Given the description of an element on the screen output the (x, y) to click on. 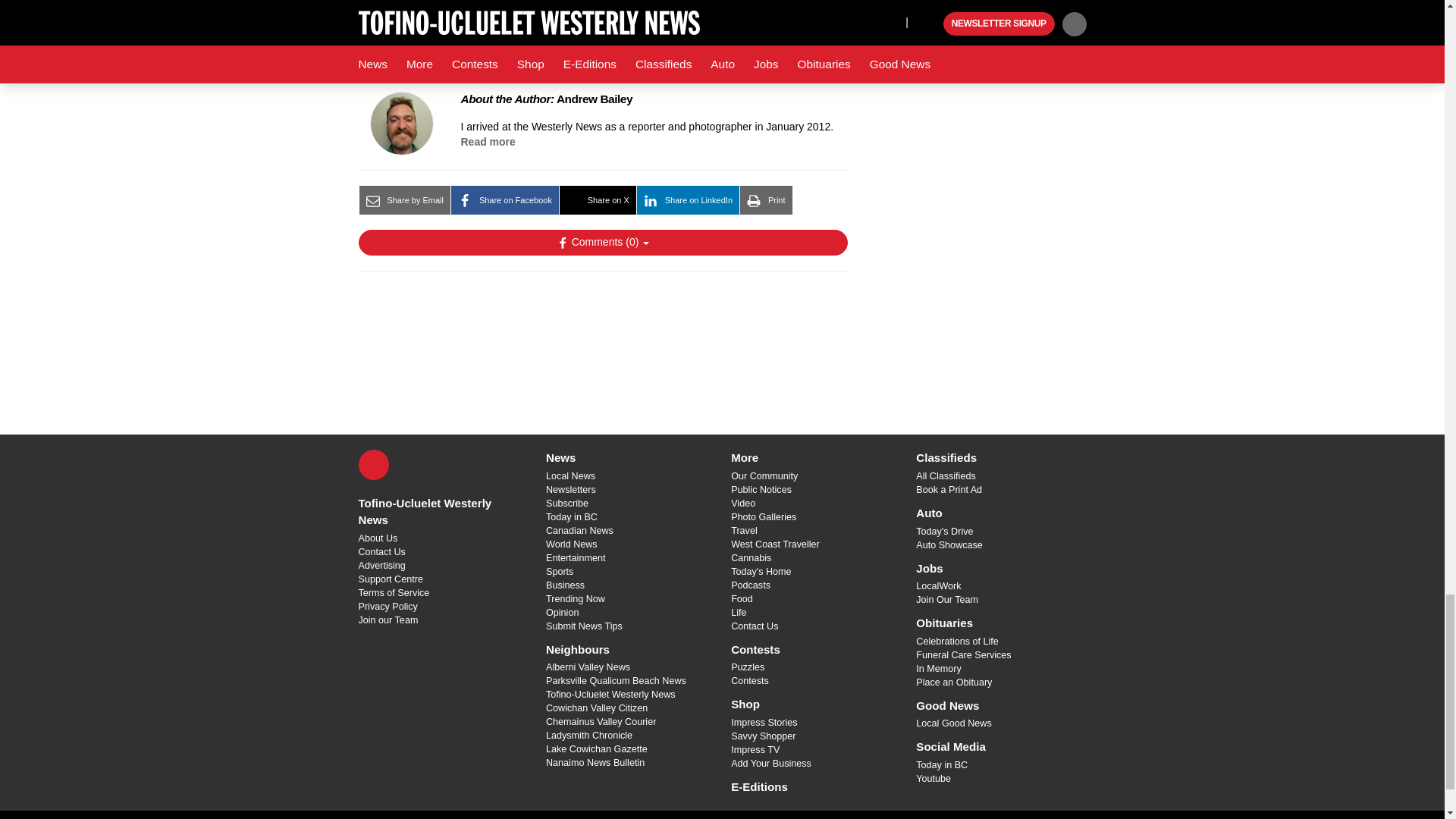
Show Comments (602, 242)
X (373, 464)
